Given the description of an element on the screen output the (x, y) to click on. 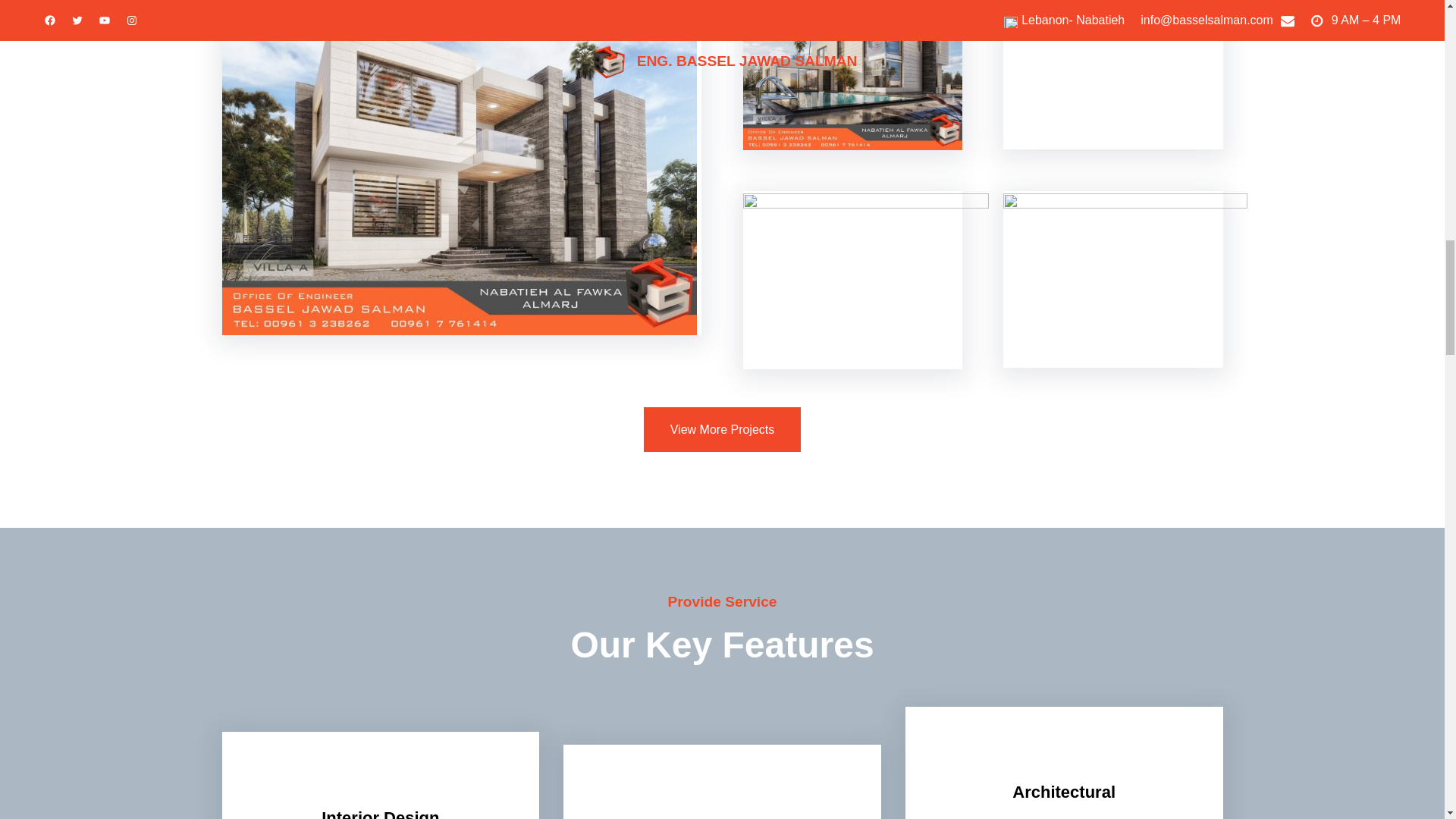
Interior Design (380, 813)
Architectural (1063, 793)
View More Projects (722, 429)
